Given the description of an element on the screen output the (x, y) to click on. 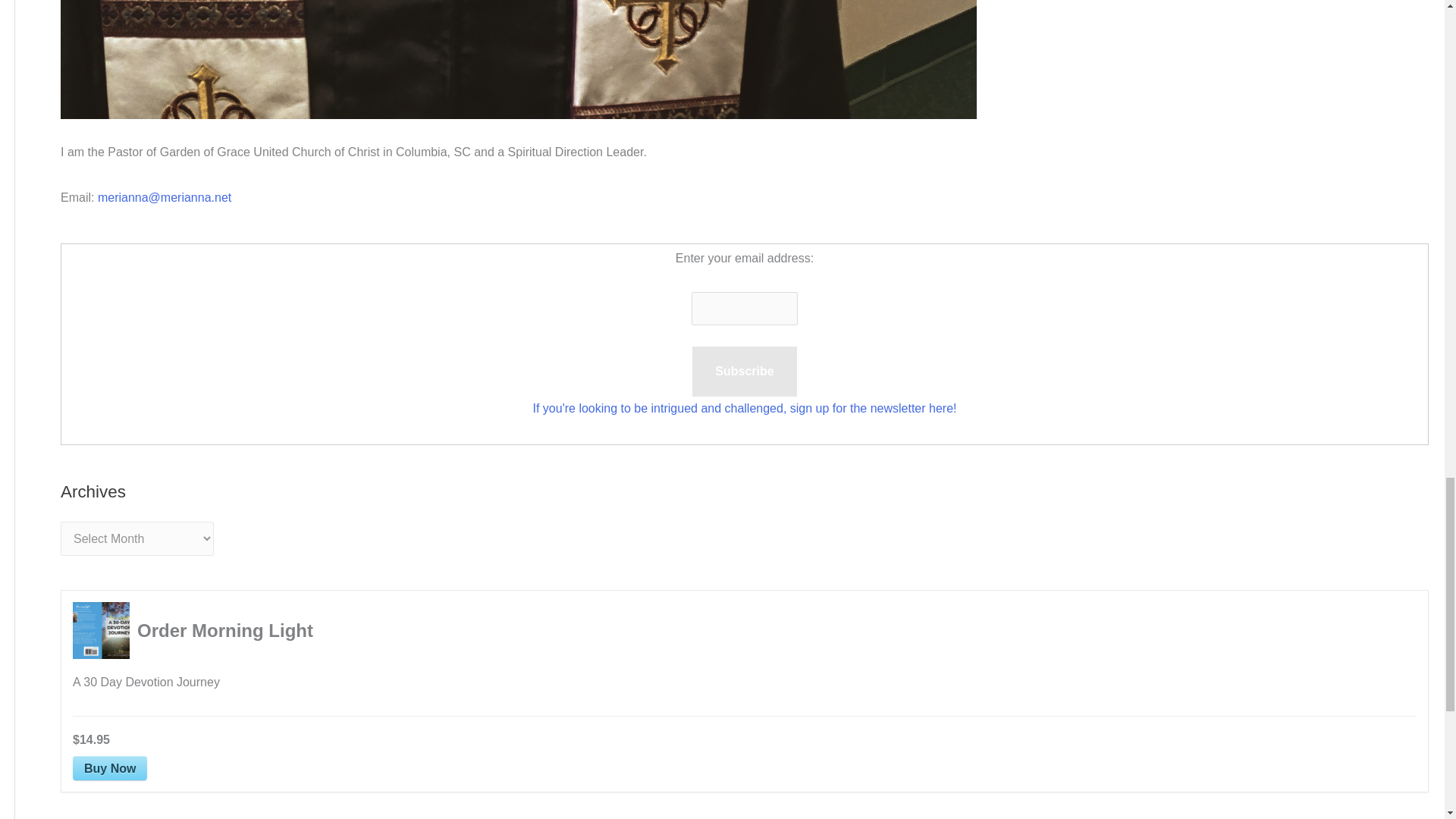
Subscribe (744, 371)
Buy Now (109, 767)
Subscribe (744, 371)
